Given the description of an element on the screen output the (x, y) to click on. 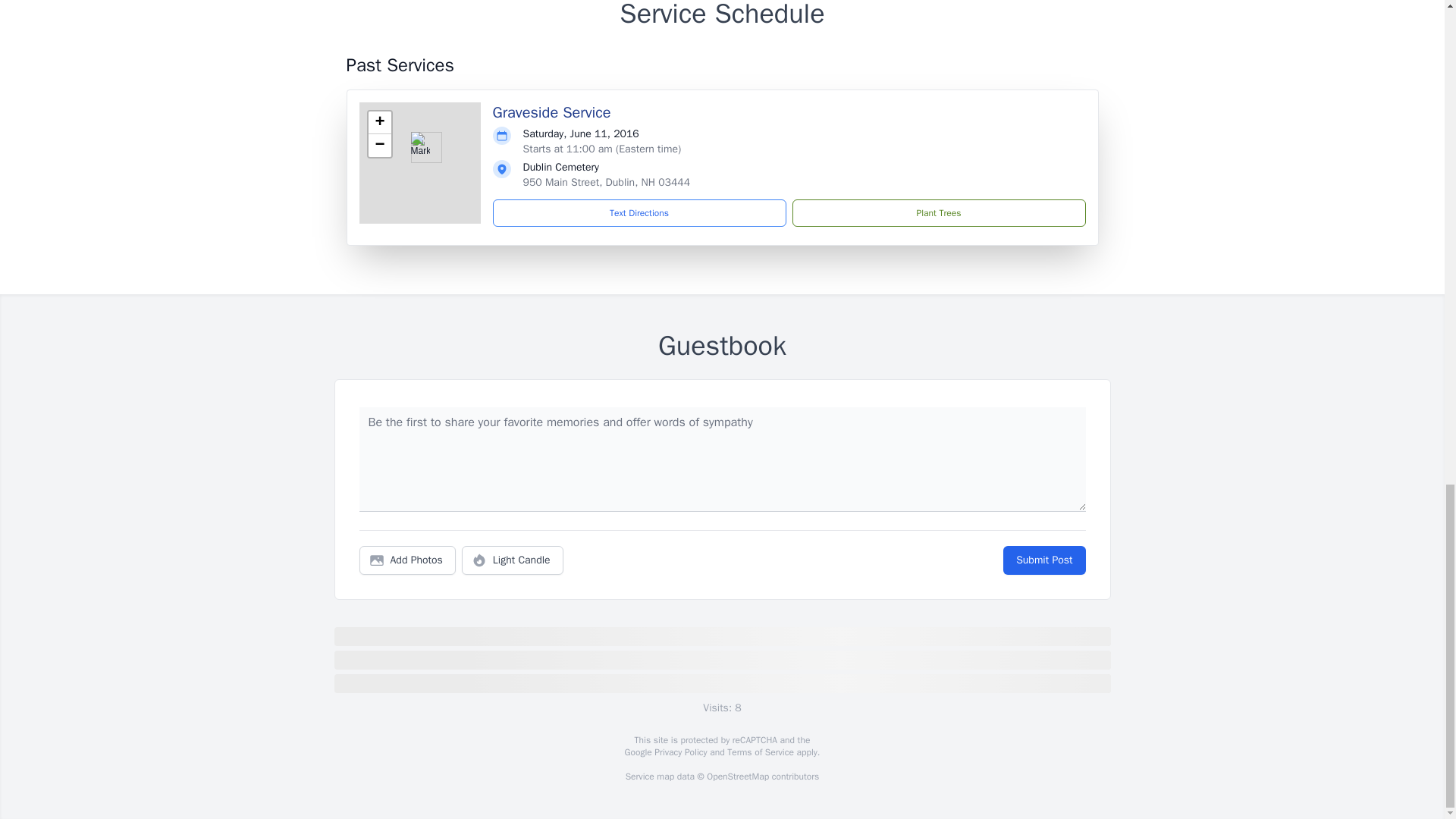
OpenStreetMap (737, 776)
Add Photos (407, 560)
Zoom in (379, 122)
Terms of Service (759, 752)
950 Main Street, Dublin, NH 03444 (606, 182)
Privacy Policy (679, 752)
Light Candle (512, 560)
Plant Trees (938, 212)
Zoom out (379, 145)
Submit Post (1043, 560)
Text Directions (639, 212)
